Given the description of an element on the screen output the (x, y) to click on. 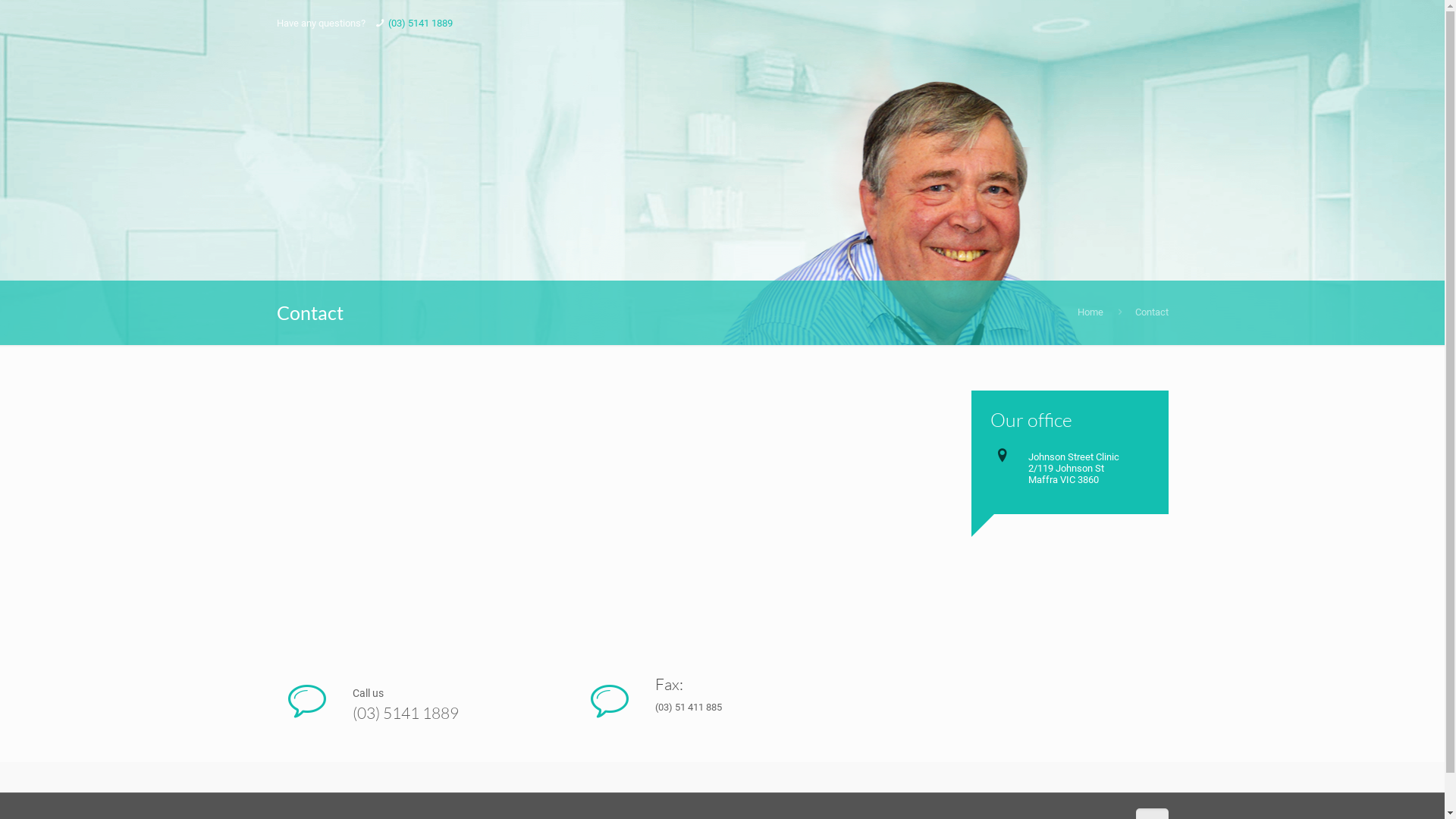
Home Element type: text (1090, 311)
(03) 5141 1889 Element type: text (456, 712)
Contact Element type: text (1150, 311)
(03) 5141 1889 Element type: text (420, 22)
